Given the description of an element on the screen output the (x, y) to click on. 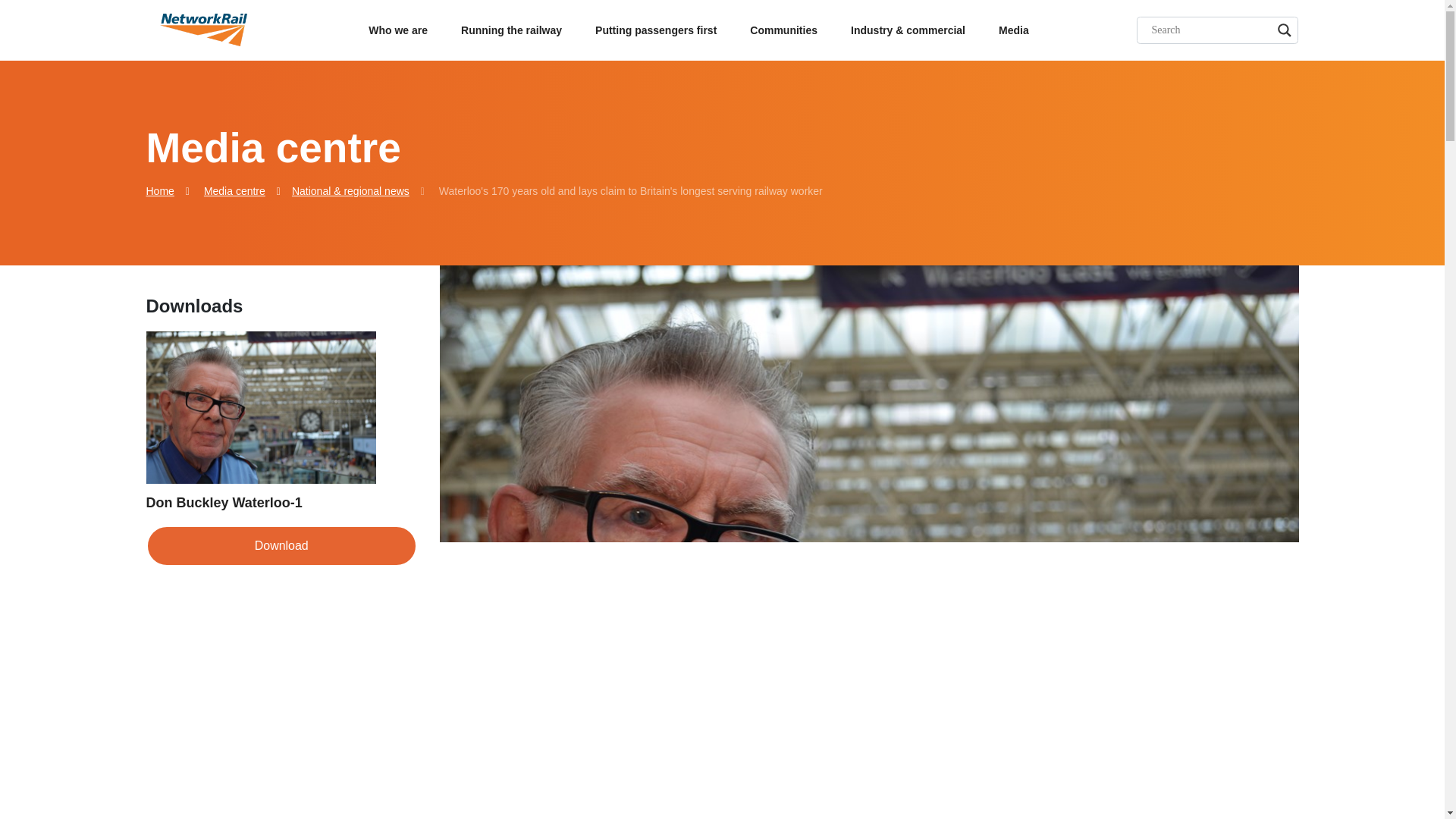
Home (159, 191)
Running the railway (511, 29)
Who we are (398, 29)
